Given the description of an element on the screen output the (x, y) to click on. 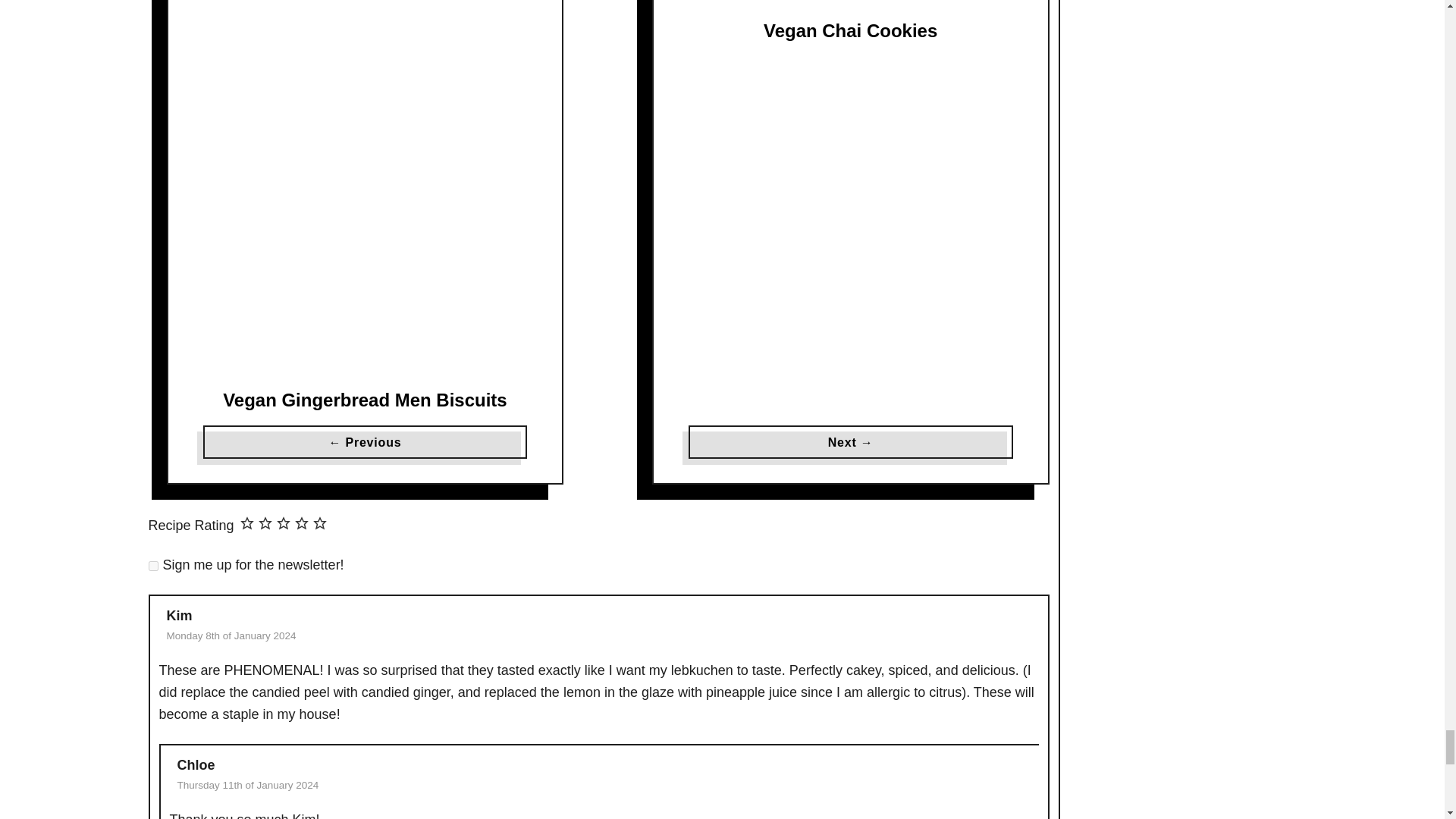
1 (153, 565)
